Given the description of an element on the screen output the (x, y) to click on. 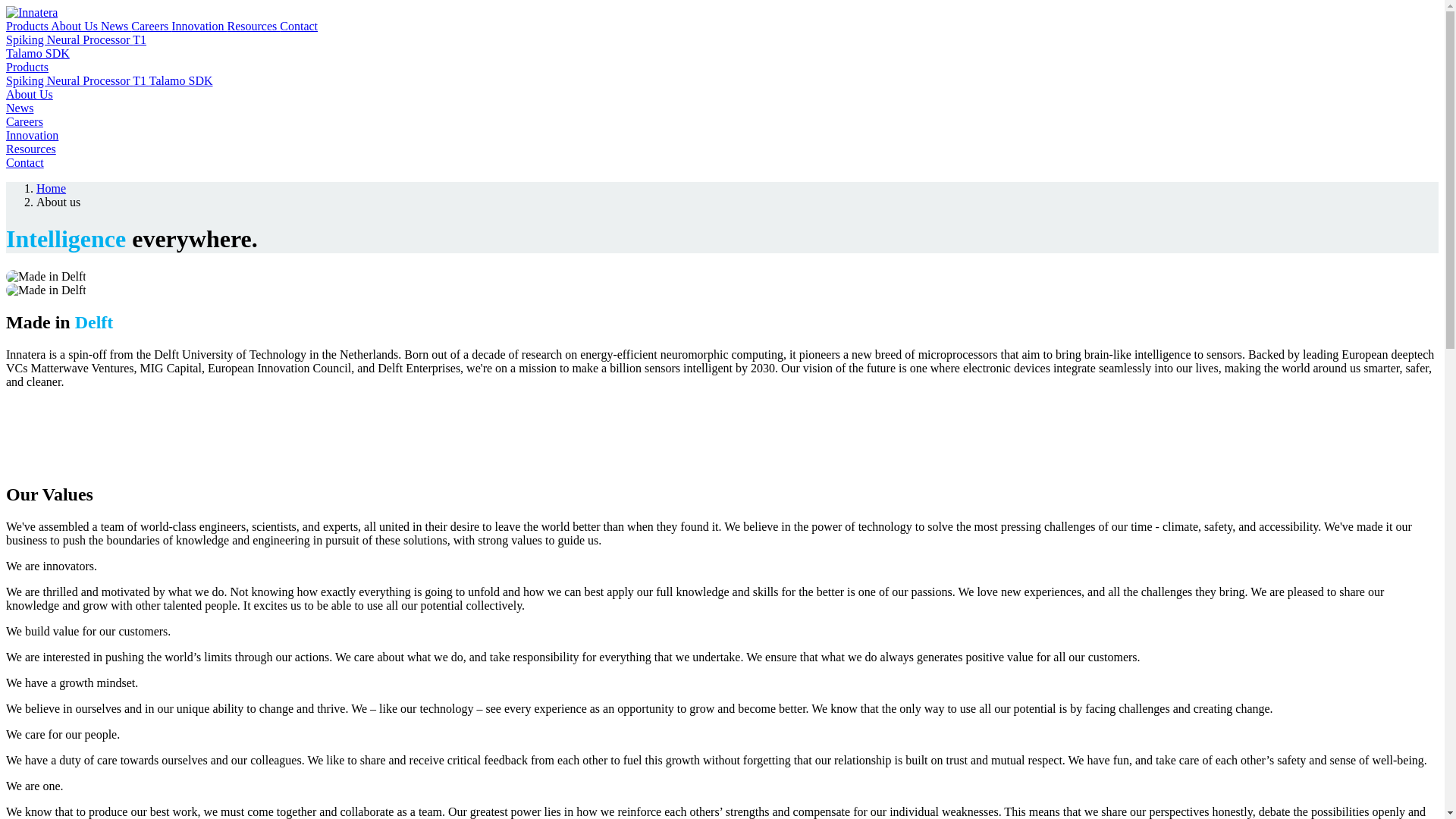
Innovation (31, 134)
Contact (298, 25)
Home (50, 187)
About Us (28, 93)
Spiking Neural Processor (68, 80)
Talamo SDK (37, 52)
Innatera (31, 11)
Products (27, 25)
Resources (254, 25)
About Us (75, 25)
